Given the description of an element on the screen output the (x, y) to click on. 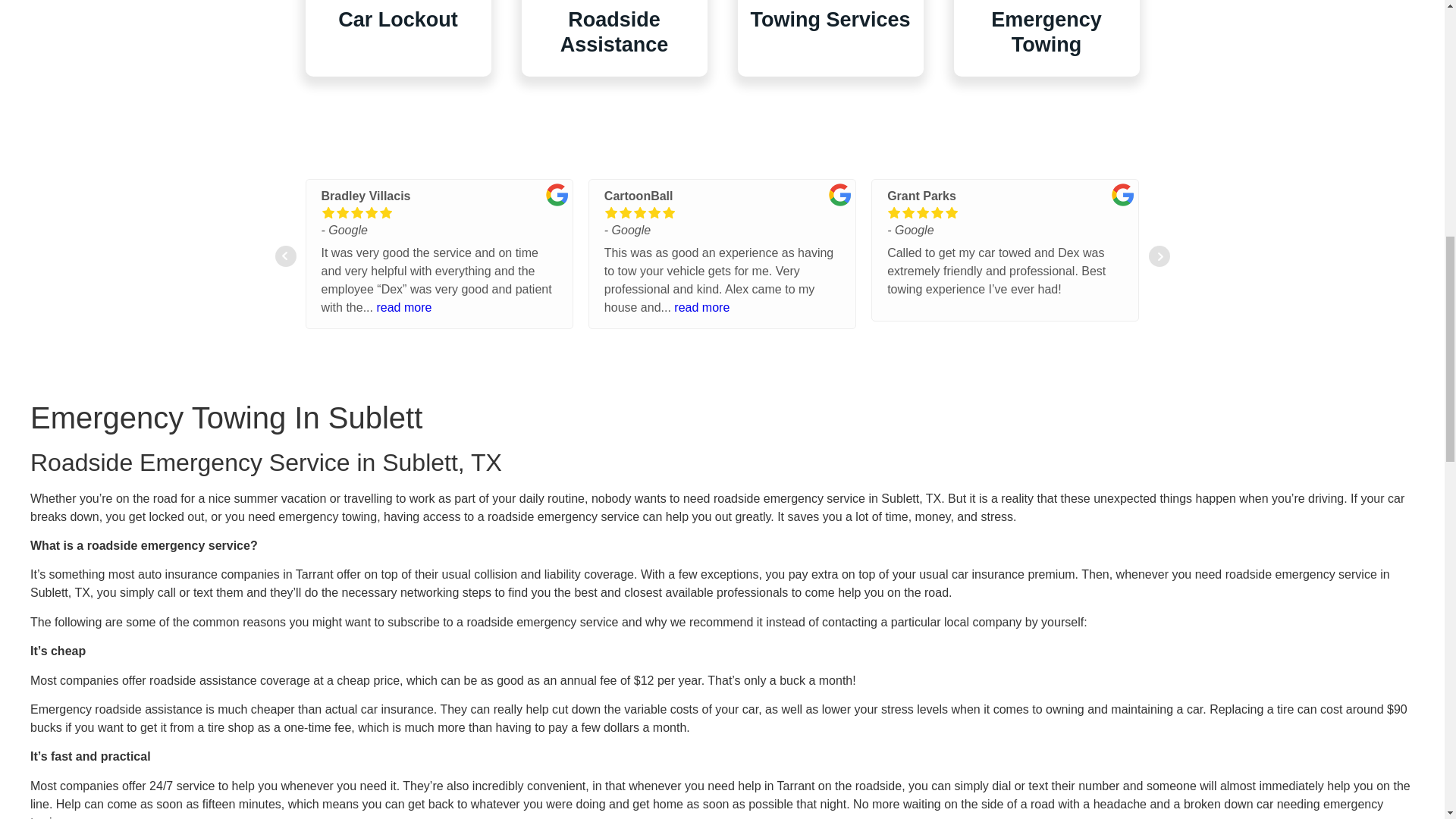
Emergency Towing (1046, 31)
Towing Services (829, 19)
Roadside Assistance (614, 31)
Car Lockout (397, 19)
